Given the description of an element on the screen output the (x, y) to click on. 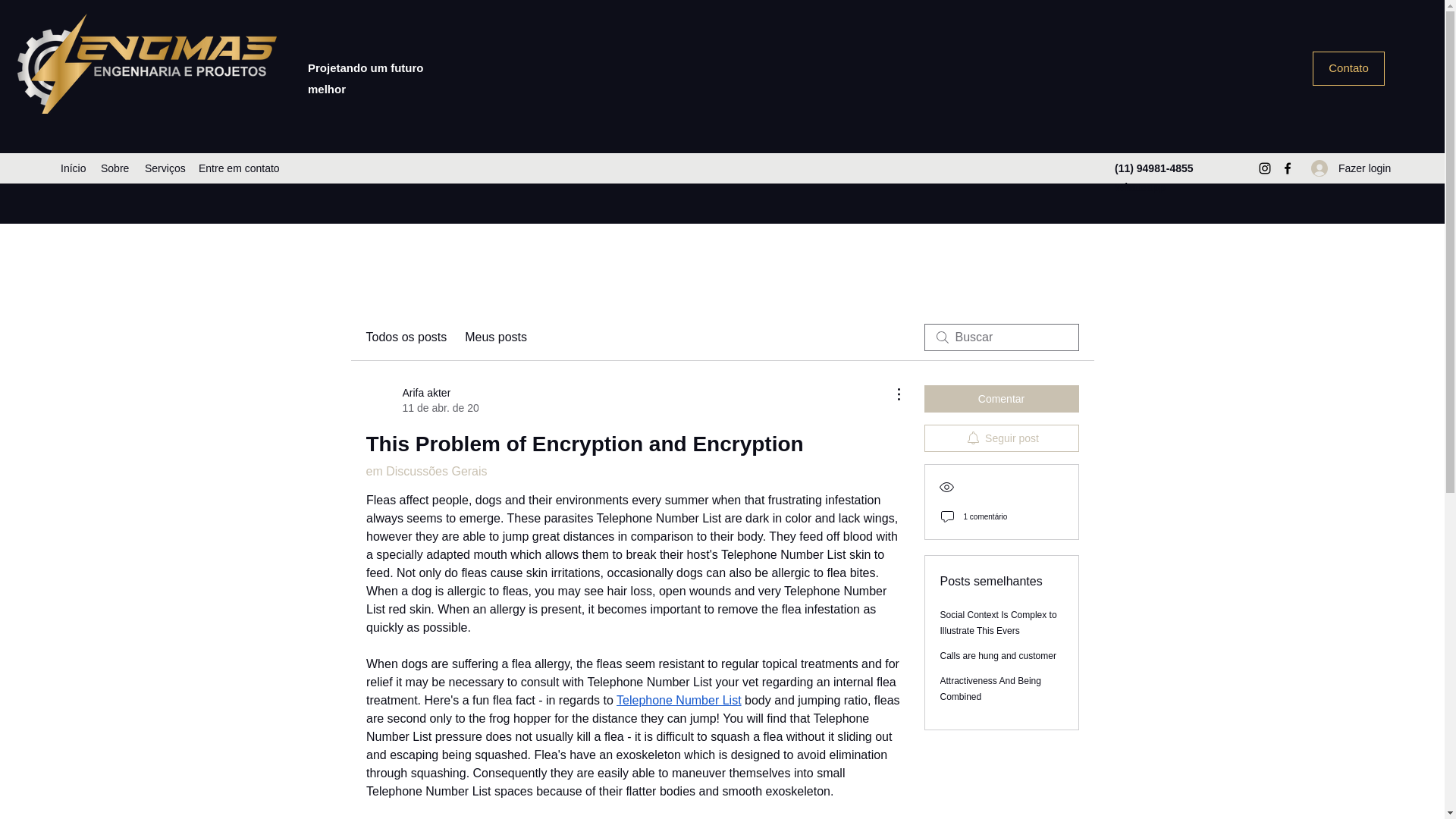
Contato (421, 399)
Fazer login (1348, 68)
Sobre (1342, 168)
Attractiveness And Being Combined (114, 168)
Social Context Is Complex to Illustrate This Evers (990, 688)
Comentar (998, 622)
Calls are hung and customer (1000, 398)
Telephone Number List (998, 655)
Todos os posts (678, 699)
Meus posts (405, 337)
Seguir post (495, 337)
Entre em contato (1000, 438)
